Given the description of an element on the screen output the (x, y) to click on. 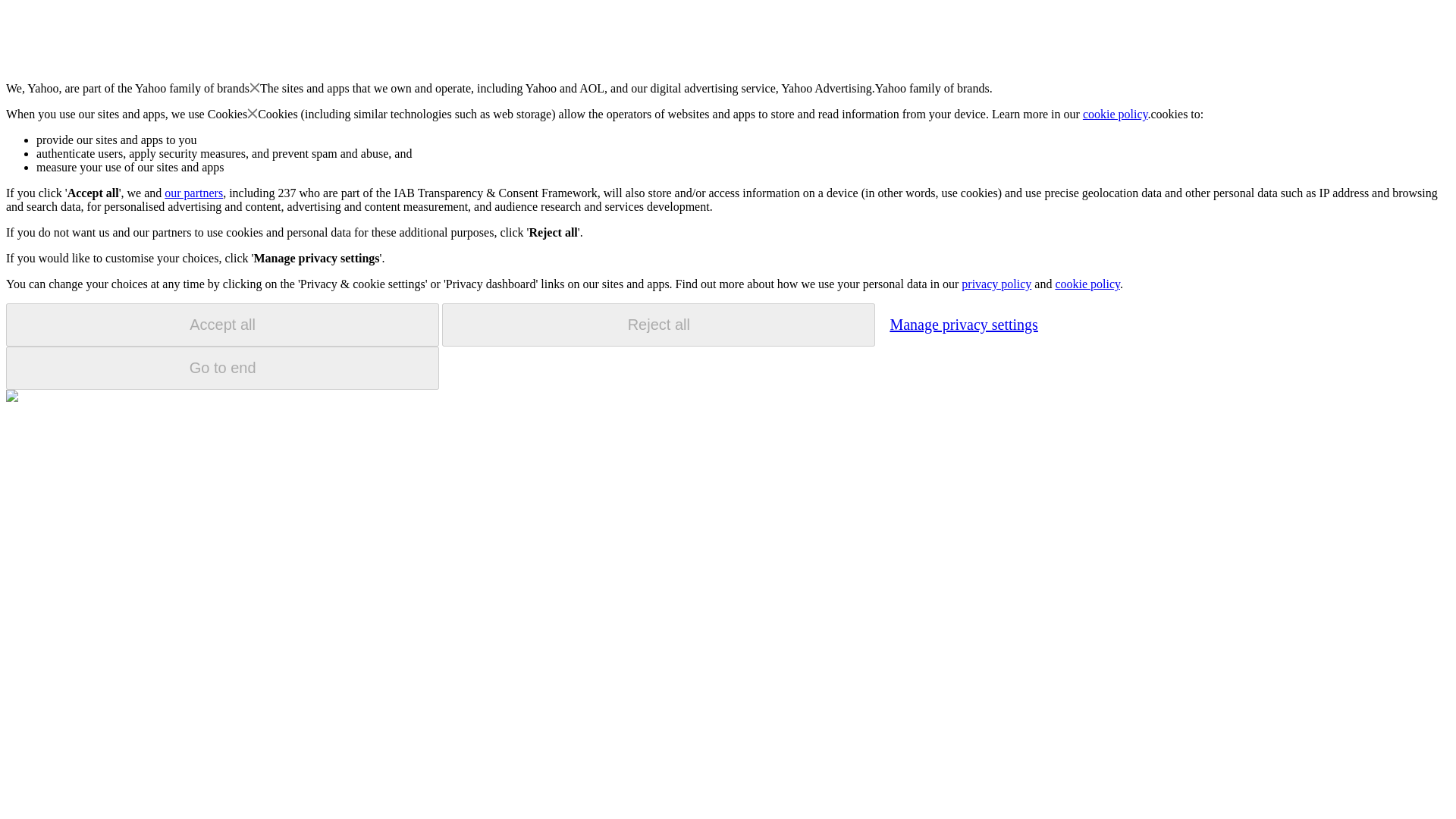
cookie policy (1086, 283)
Reject all (658, 324)
Accept all (222, 324)
Go to end (222, 367)
cookie policy (1115, 113)
our partners (193, 192)
Manage privacy settings (963, 323)
privacy policy (995, 283)
